Given the description of an element on the screen output the (x, y) to click on. 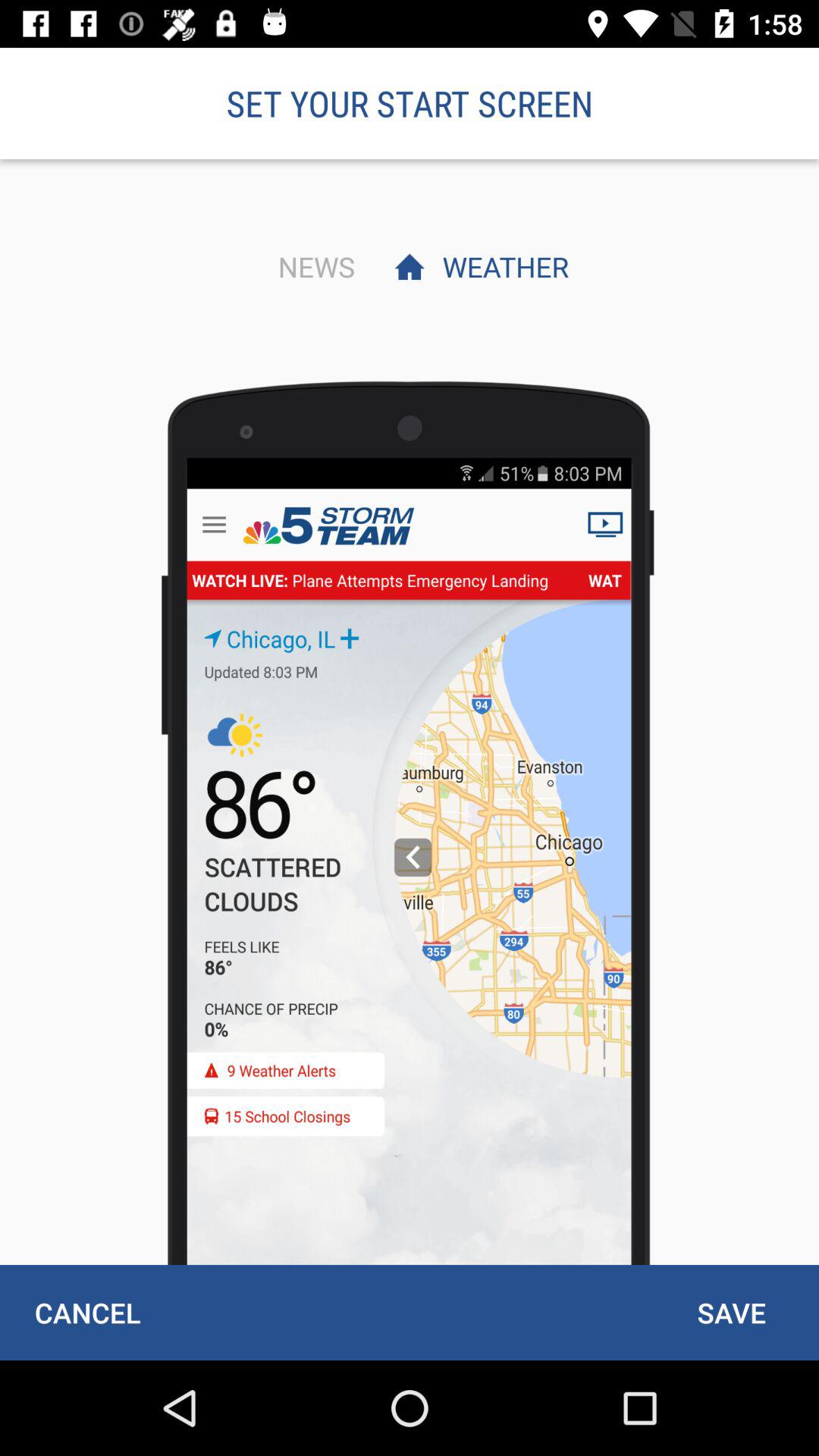
press icon above news item (409, 103)
